Given the description of an element on the screen output the (x, y) to click on. 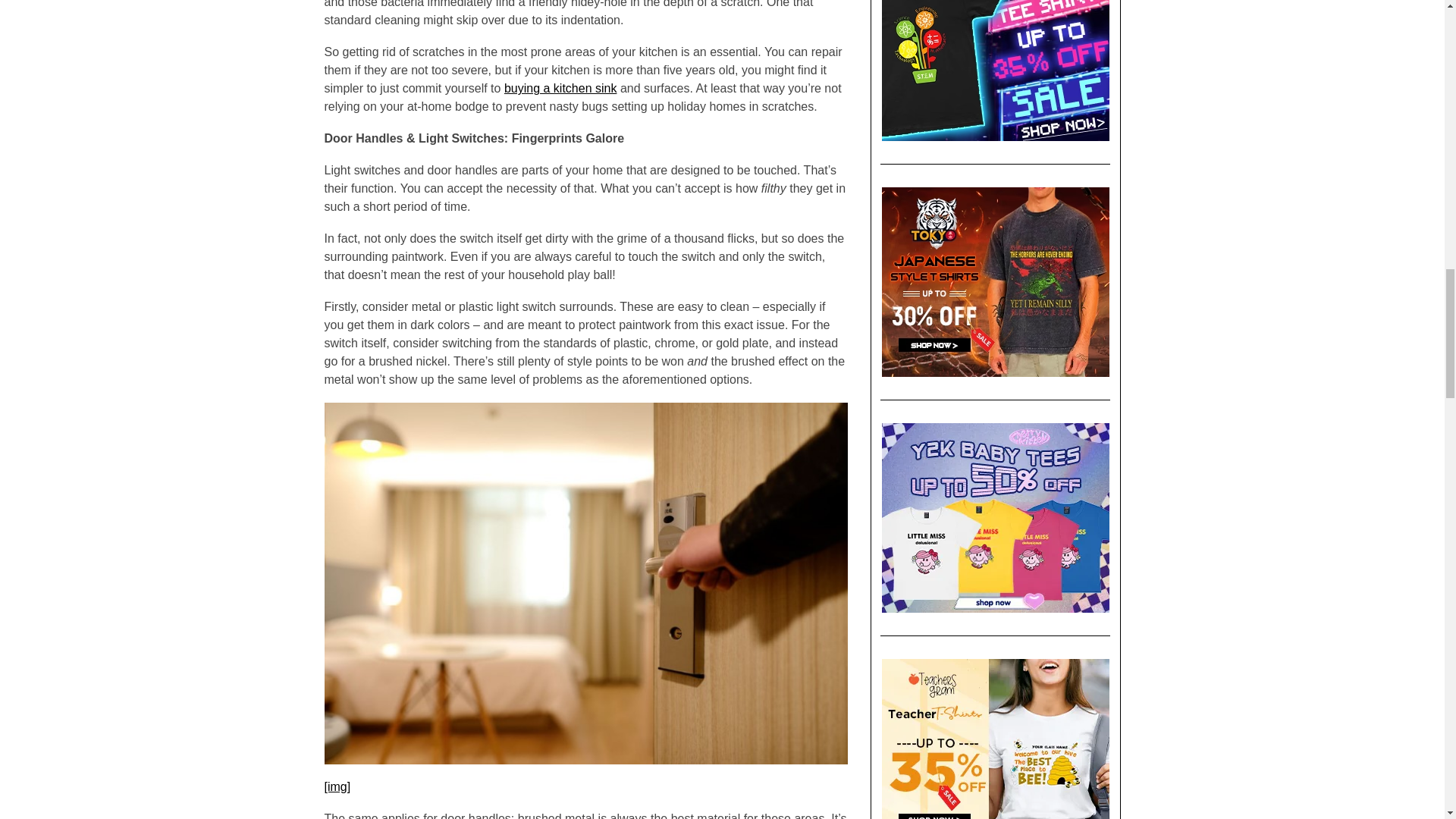
geek t shirt (994, 70)
baby tees (994, 517)
teacher shirt (994, 739)
Japanese t shirts (994, 281)
